Given the description of an element on the screen output the (x, y) to click on. 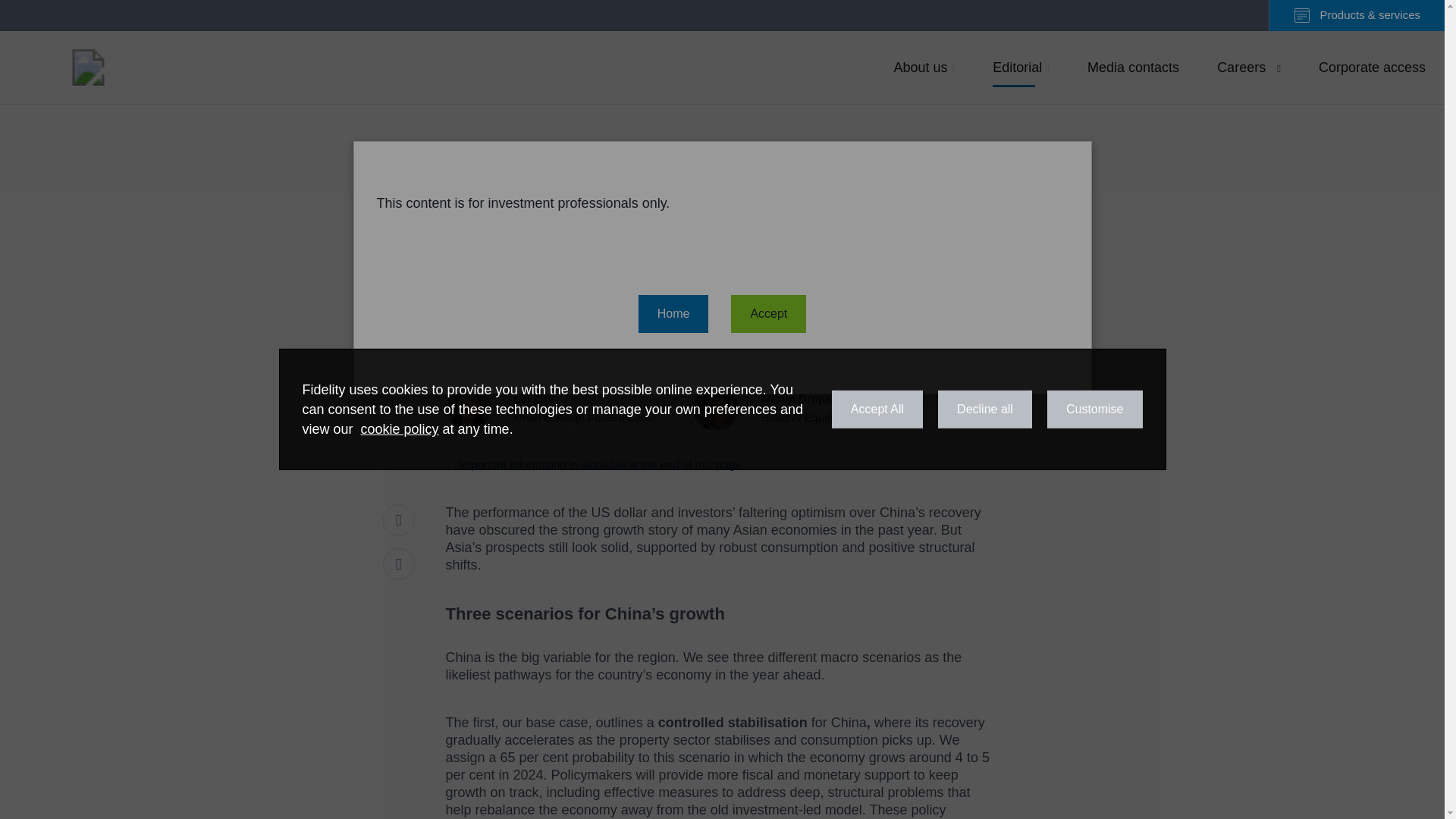
Corporate access (1372, 66)
Careers (560, 408)
Lei Zhu (1248, 66)
About us (560, 408)
disclaimer (924, 66)
Media contacts (593, 463)
Editorial (1133, 66)
Martin Dropkin (1021, 66)
